Given the description of an element on the screen output the (x, y) to click on. 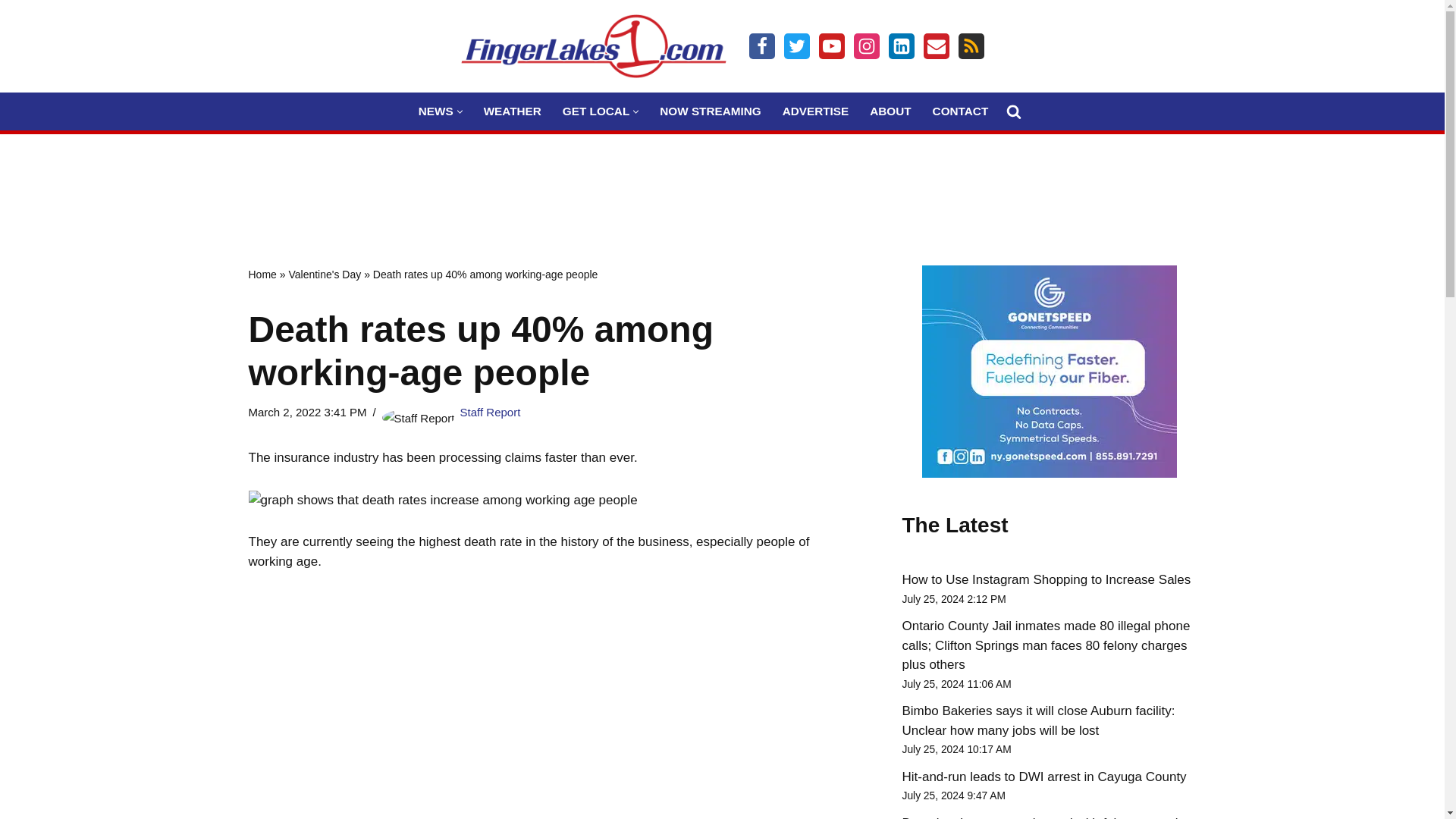
Youtube (831, 45)
NEWS (435, 111)
Skip to content (11, 31)
Posts by Staff Report (490, 411)
GET LOCAL (595, 111)
CONTACT (960, 111)
WEATHER (512, 111)
ADVERTISE (815, 111)
ABOUT (890, 111)
Instagram (866, 45)
NOW STREAMING (709, 111)
Twitter (796, 45)
LinkIn (901, 45)
Facebook (761, 45)
Feed (971, 45)
